Given the description of an element on the screen output the (x, y) to click on. 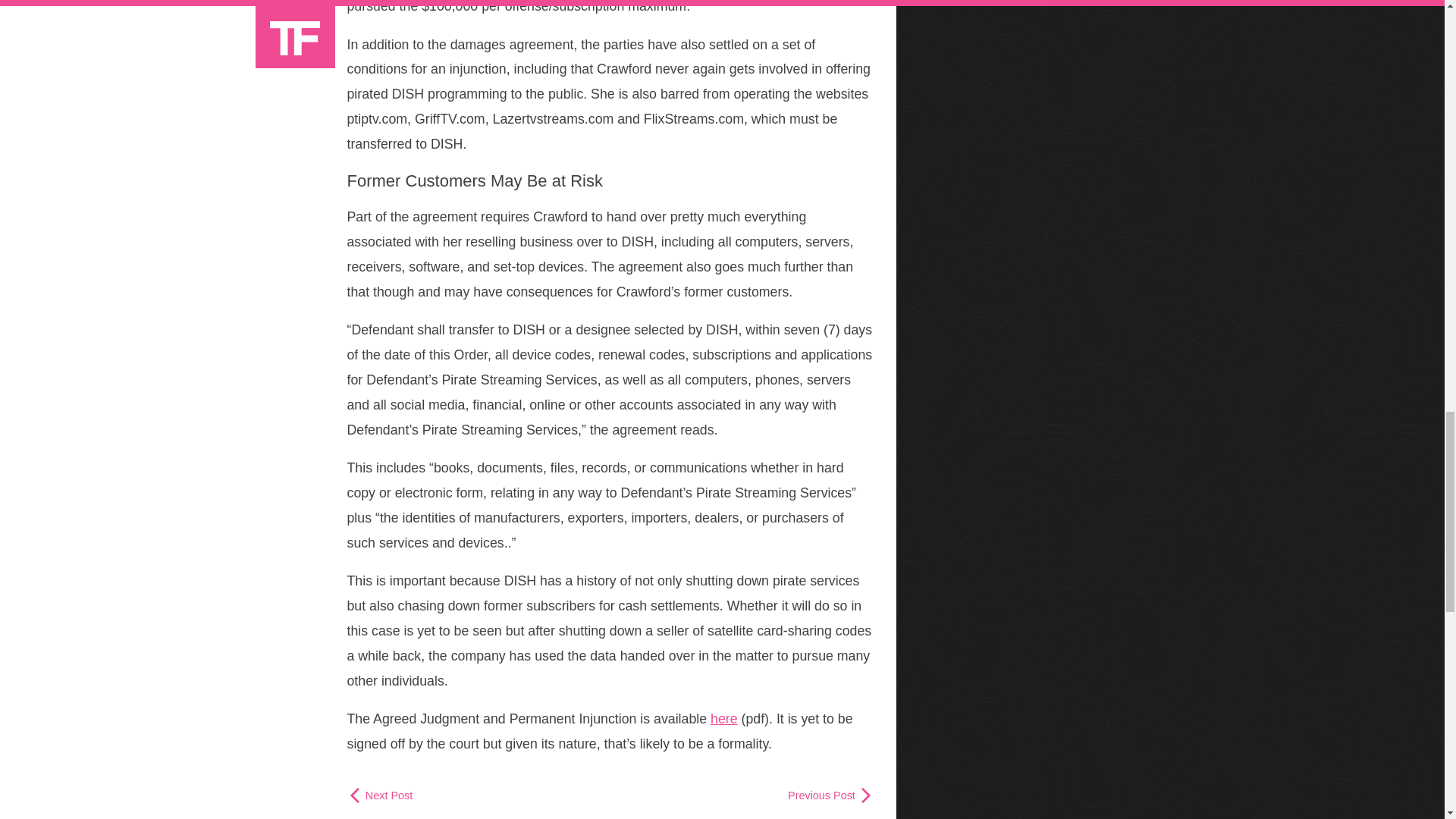
Previous Post (830, 795)
here (724, 718)
Next Post (380, 795)
